Given the description of an element on the screen output the (x, y) to click on. 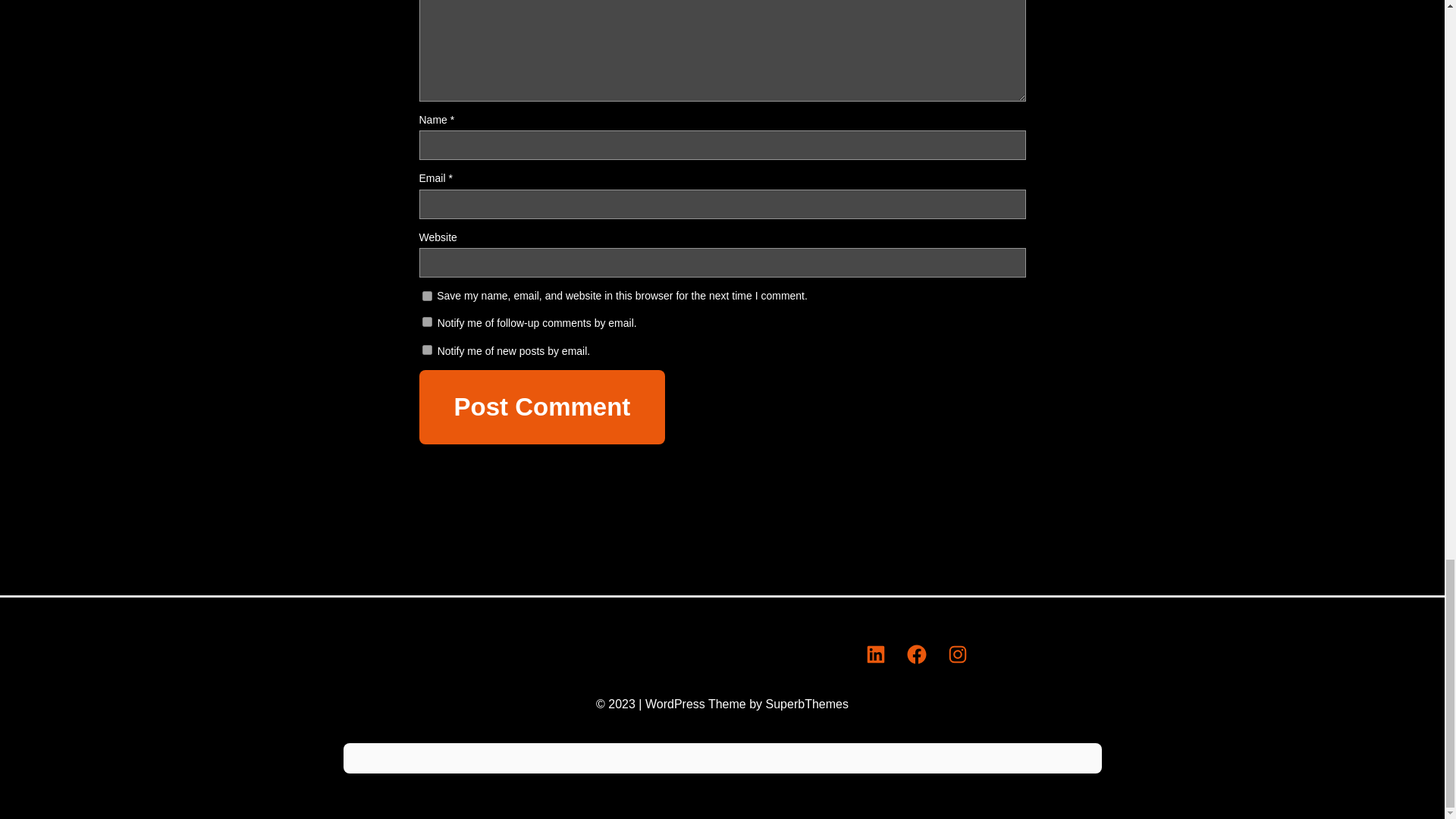
subscribe (426, 321)
Facebook (916, 653)
SuperbThemes (806, 703)
subscribe (426, 349)
Instagram (957, 653)
Post Comment (542, 407)
LinkedIn (875, 653)
Post Comment (542, 407)
yes (426, 296)
